Given the description of an element on the screen output the (x, y) to click on. 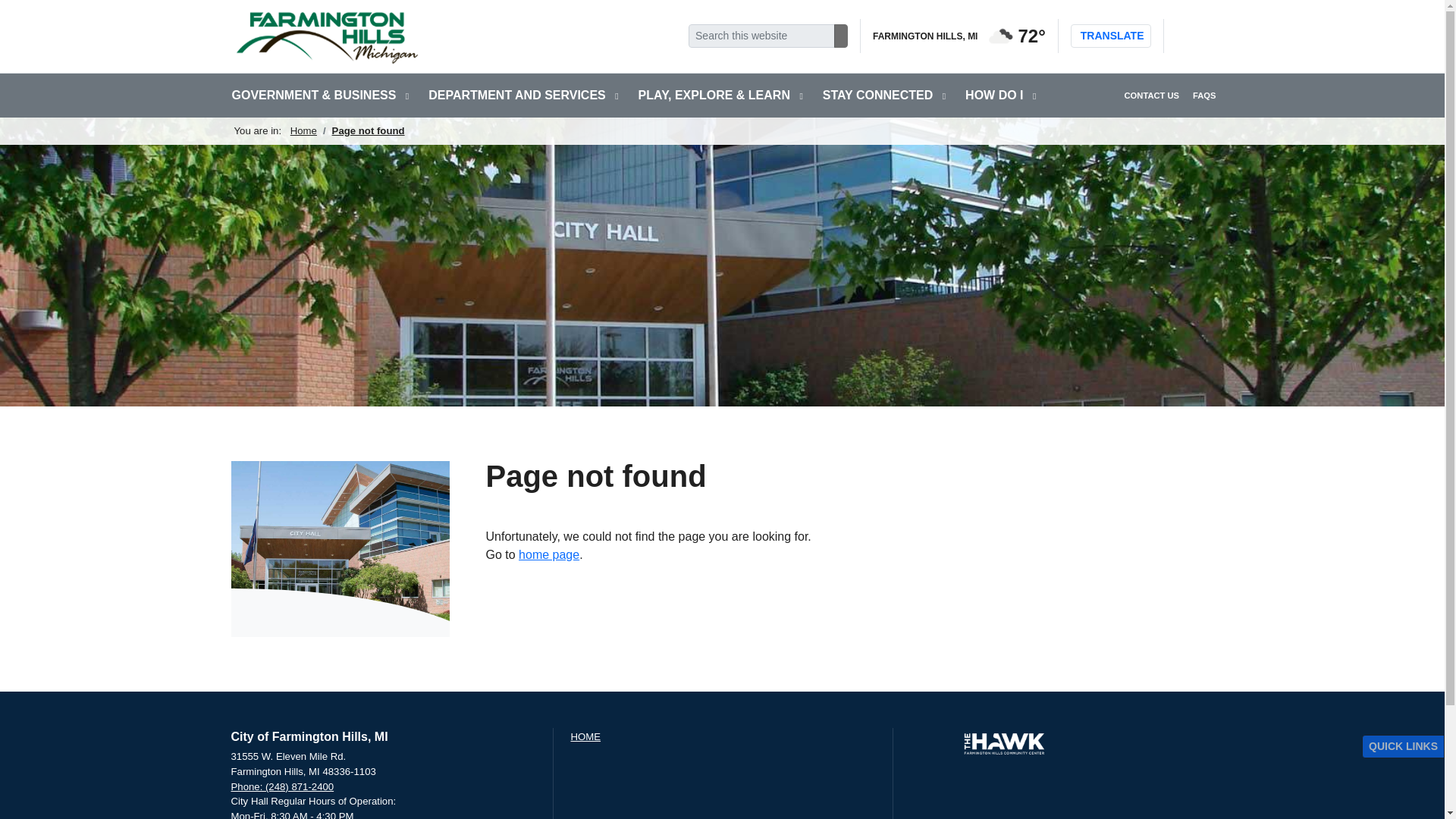
YouTube (1208, 36)
FH Alert (1178, 36)
Instagram (1201, 36)
TRANSLATE (1110, 35)
The Hawk (1003, 744)
Newsletter (1186, 36)
Farmington Hills, MI: clouds, 72 deg. (958, 35)
Facebook (1194, 36)
DEPARTMENT AND SERVICES (523, 95)
